Given the description of an element on the screen output the (x, y) to click on. 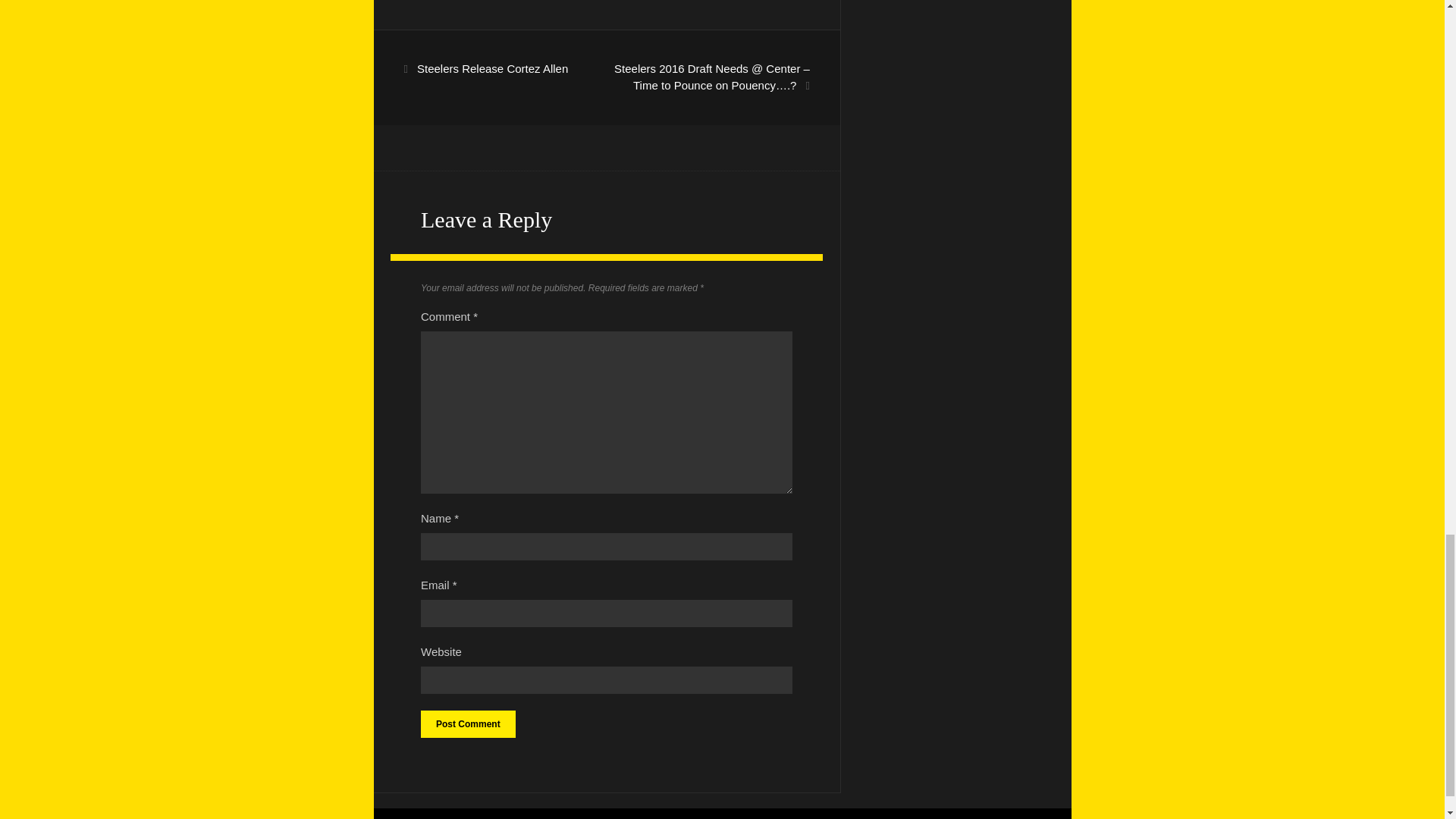
Steelers Release Cortez Allen (491, 68)
Post Comment (467, 723)
Post Comment (467, 723)
